Given the description of an element on the screen output the (x, y) to click on. 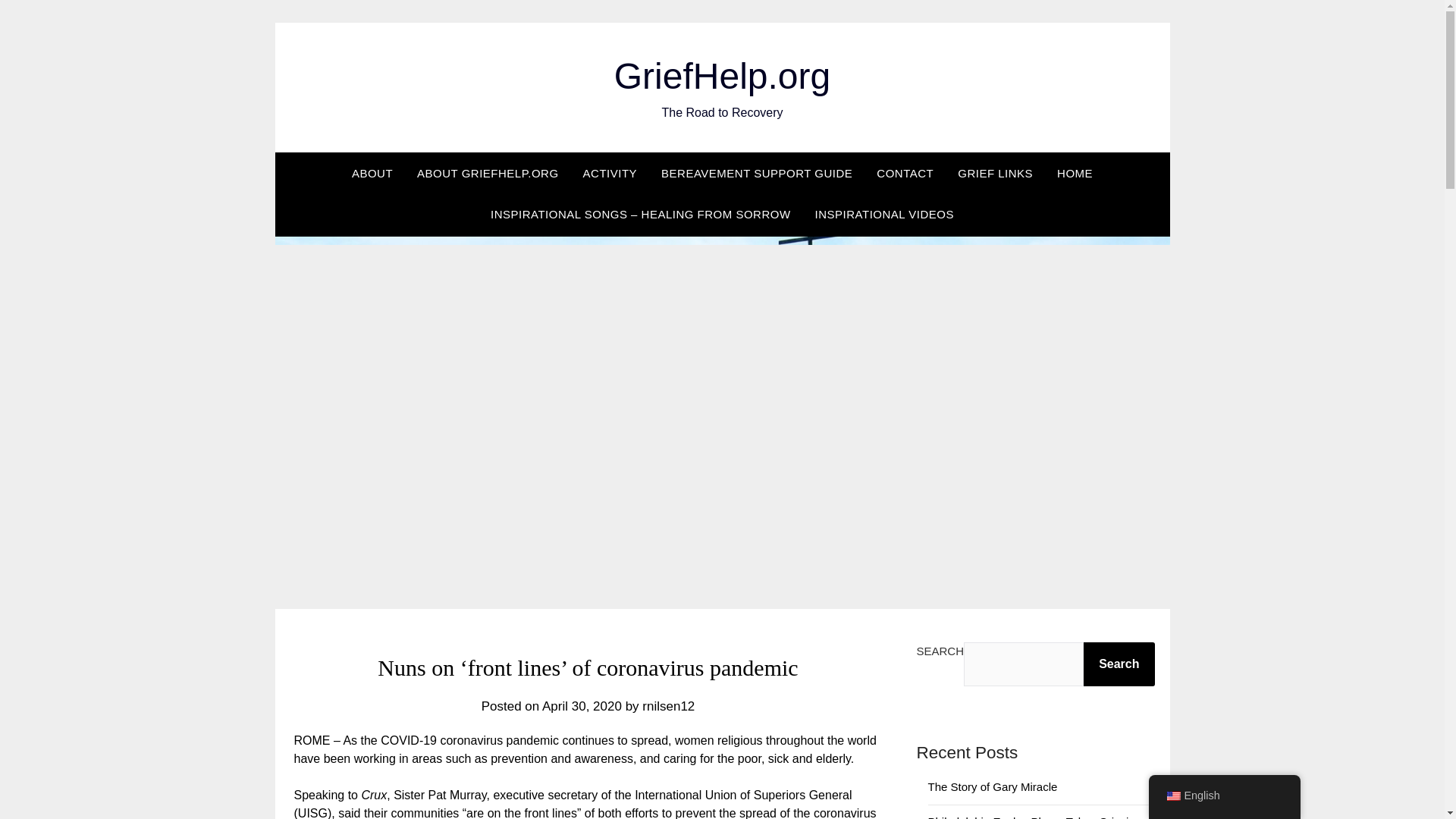
BEREAVEMENT SUPPORT GUIDE (756, 173)
English (1172, 795)
ACTIVITY (609, 173)
Philadelphia Eagles Player Takes Grieving Daughter to Dance (1034, 816)
GriefHelp.org (721, 76)
Search (1118, 664)
April 30, 2020 (581, 706)
rnilsen12 (668, 706)
ABOUT (371, 173)
HOME (1075, 173)
The Story of Gary Miracle (993, 786)
INSPIRATIONAL VIDEOS (884, 214)
ABOUT GRIEFHELP.ORG (487, 173)
CONTACT (904, 173)
GRIEF LINKS (994, 173)
